Given the description of an element on the screen output the (x, y) to click on. 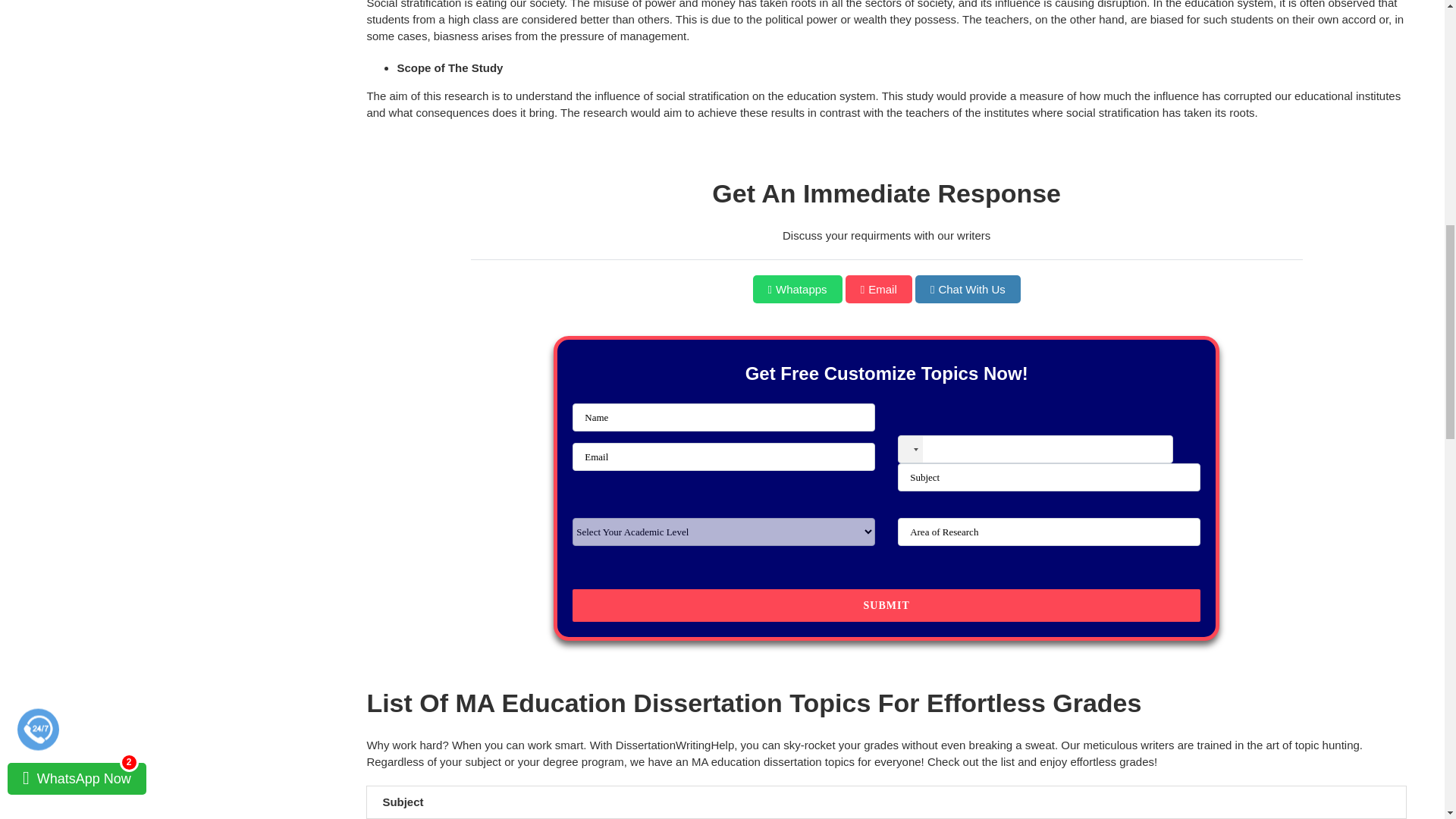
Submit (885, 604)
